Given the description of an element on the screen output the (x, y) to click on. 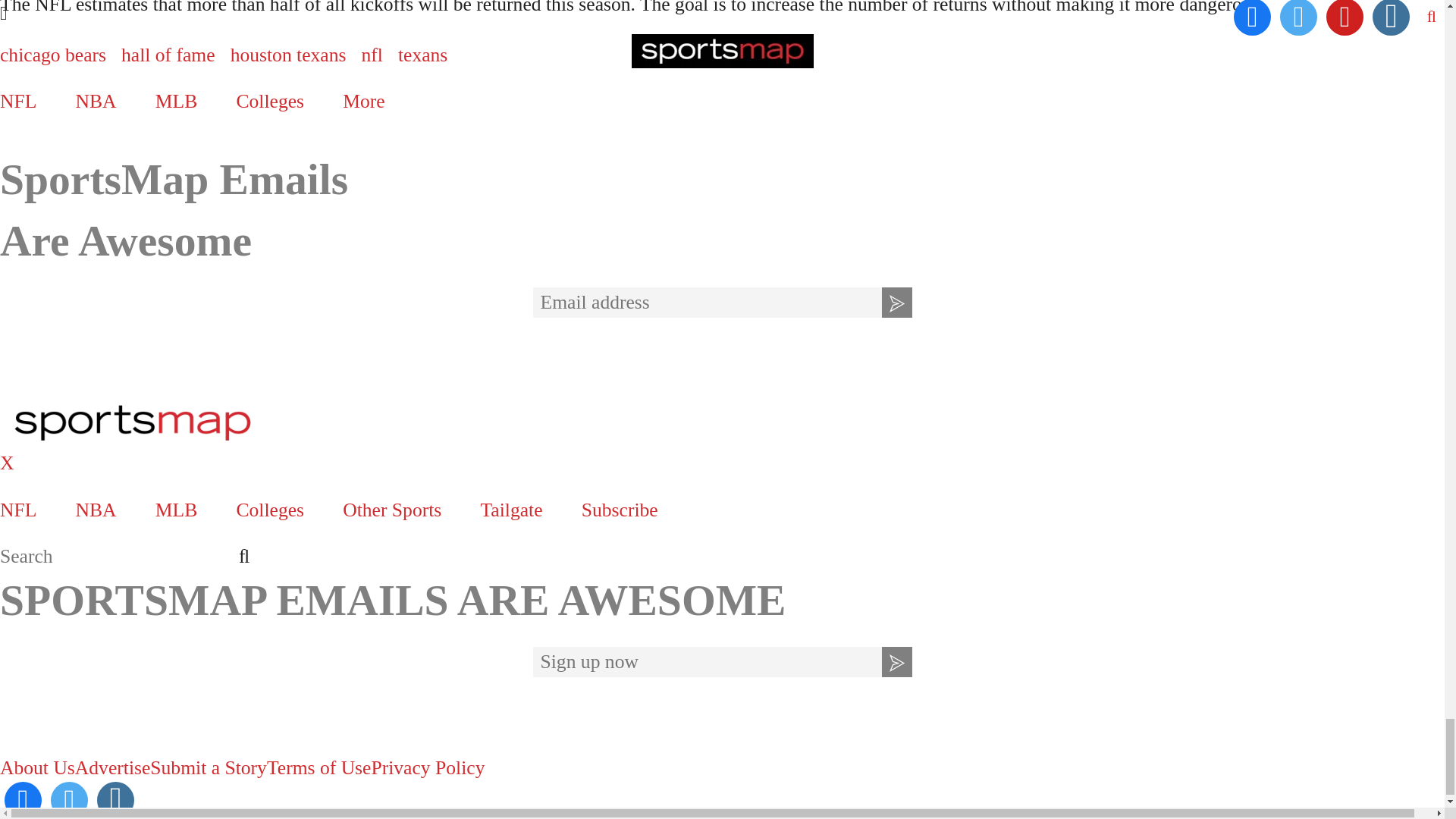
SportsMap Houston (722, 422)
